Given the description of an element on the screen output the (x, y) to click on. 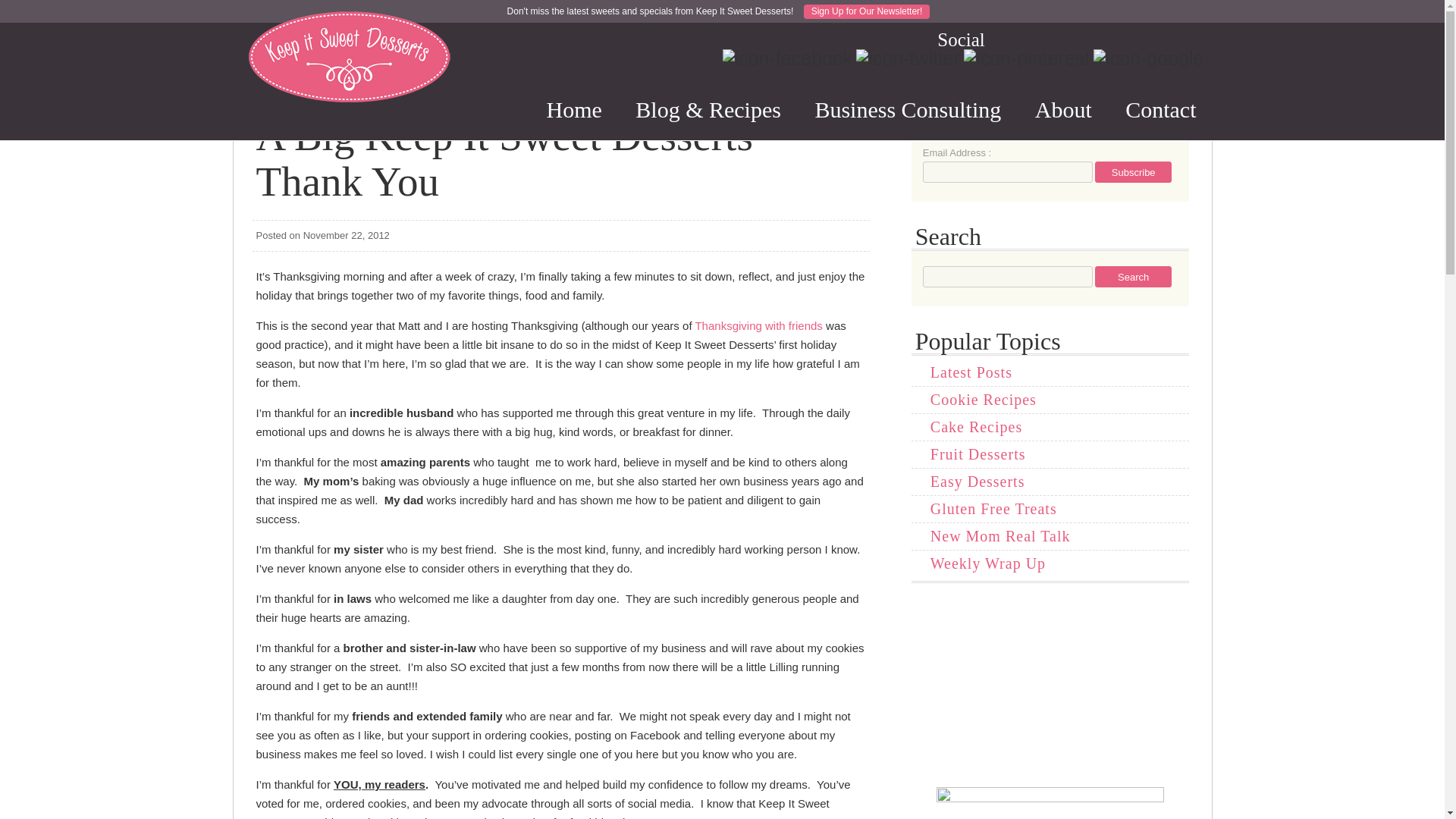
Thanksgiving with friends (758, 325)
Business Consulting (907, 109)
Contact (1160, 109)
Subscribe (1133, 171)
Sign Up for Our Newsletter! (866, 11)
Home (574, 109)
Search (1133, 276)
About (1063, 109)
